Given the description of an element on the screen output the (x, y) to click on. 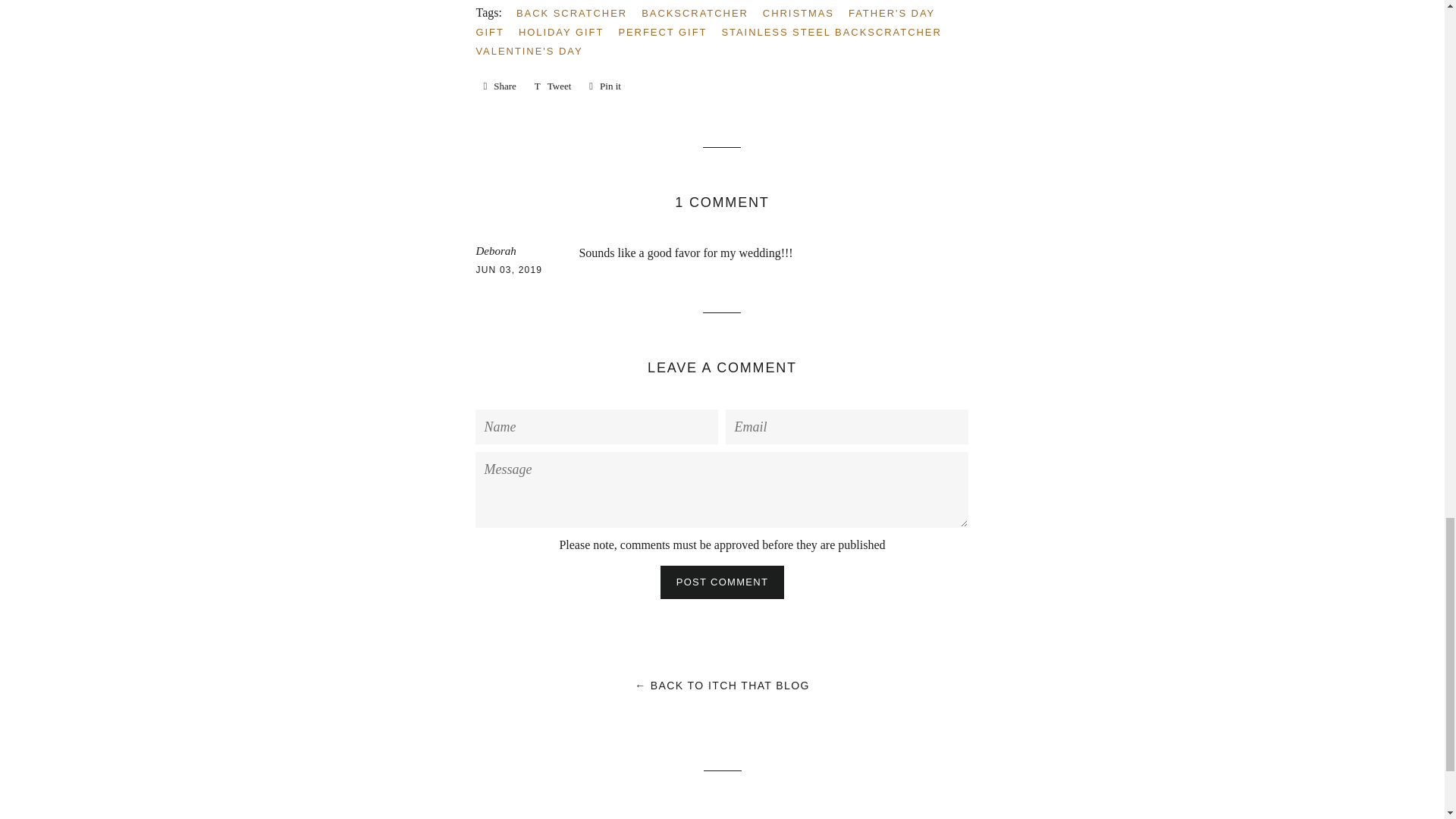
BACK SCRATCHER (577, 13)
VALENTINE'S DAY (604, 86)
Pin on Pinterest (535, 50)
Tweet on Twitter (604, 86)
FATHER'S DAY (553, 86)
STAINLESS STEEL BACKSCRATCHER (897, 13)
PERFECT GIFT (836, 31)
HOLIDAY GIFT (553, 86)
